Given the description of an element on the screen output the (x, y) to click on. 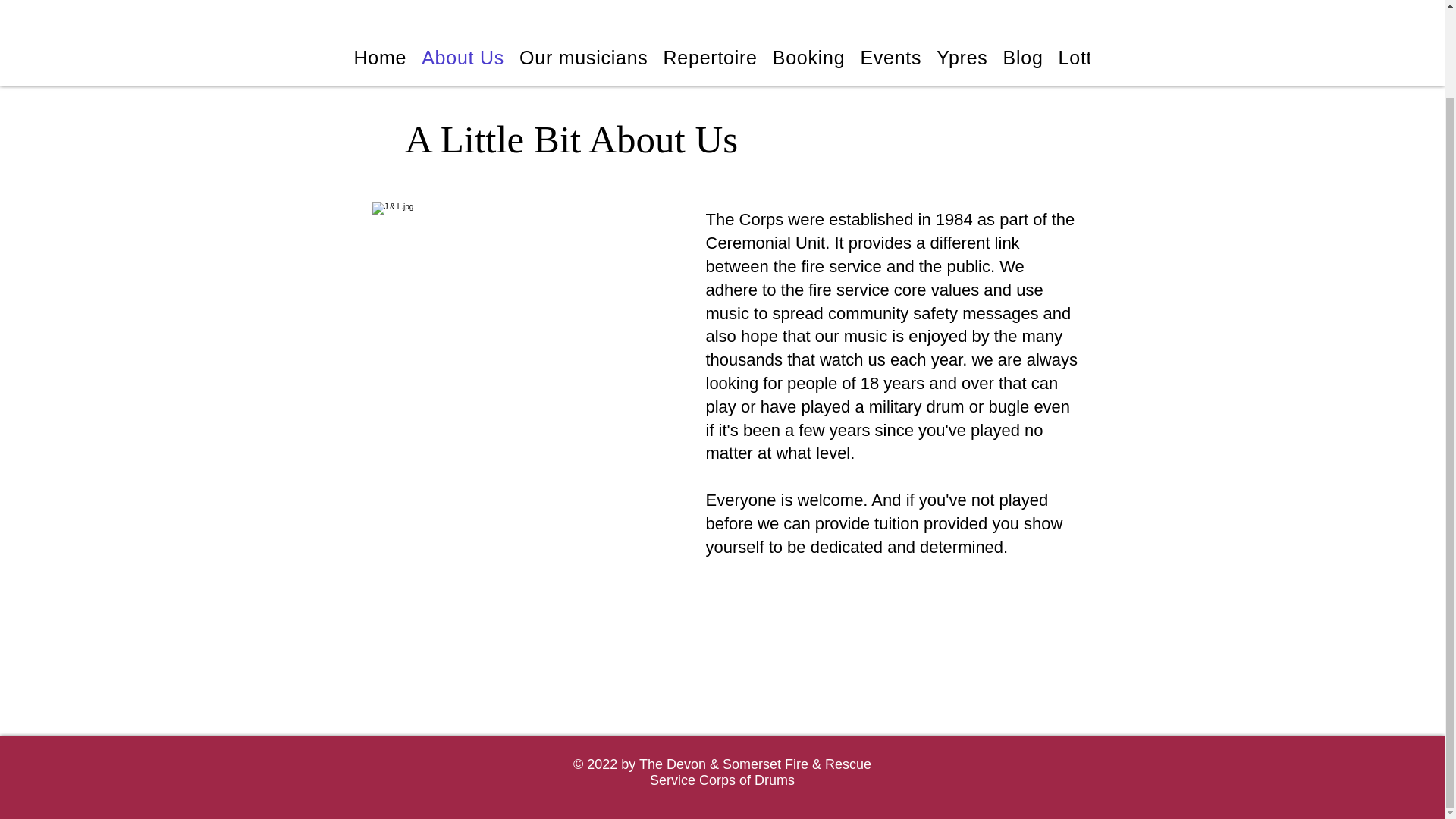
Our musicians (584, 57)
Booking (809, 57)
Blog (1023, 57)
Ypres (961, 57)
Gallery (1166, 57)
About Us (462, 57)
Lottery (1089, 57)
Events (889, 57)
Home (379, 57)
